Given the description of an element on the screen output the (x, y) to click on. 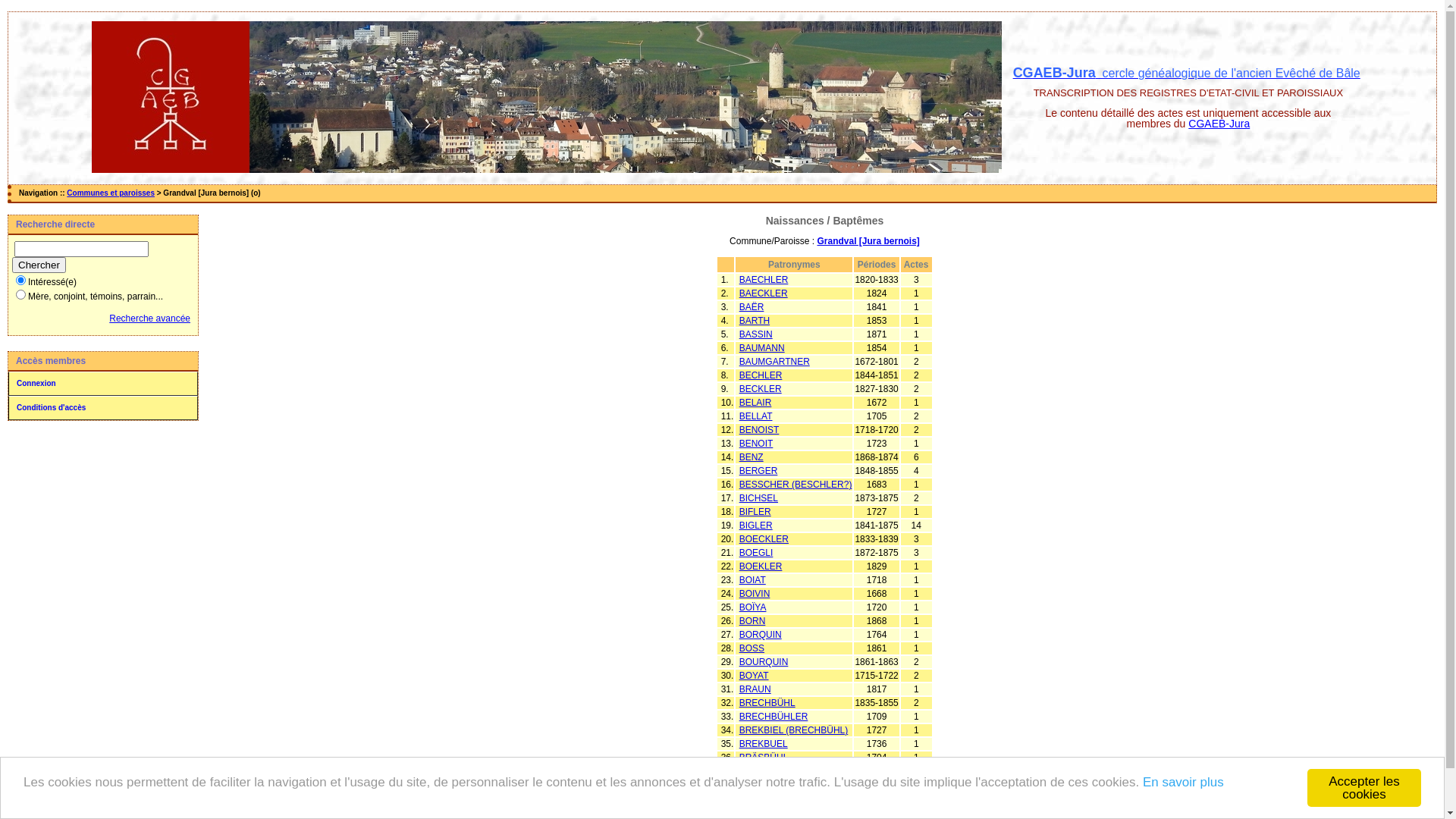
BELAIR Element type: text (755, 402)
BOEKLER Element type: text (760, 566)
BIFLER Element type: text (755, 511)
BORN Element type: text (752, 620)
BOIAT Element type: text (752, 579)
BIGLER Element type: text (755, 525)
BAECKLER Element type: text (763, 293)
BURNER Element type: text (758, 798)
Accepter les cookies Element type: text (1364, 787)
Connexion Element type: text (102, 383)
BOURQUIN Element type: text (763, 661)
BORQUIN Element type: text (760, 634)
BOECKLER Element type: text (763, 538)
BOSS Element type: text (751, 648)
BECKLER Element type: text (760, 388)
Grandval [Jura bernois] Element type: text (868, 240)
Communes et paroisses Element type: text (110, 192)
BAUMGARTNER Element type: text (774, 361)
BAUMANN Element type: text (761, 347)
BICHSEL Element type: text (758, 497)
Chercher Element type: text (38, 265)
BELLAT Element type: text (755, 416)
BASSIN Element type: text (755, 334)
BREKBUEL Element type: text (763, 743)
BURKHARD Element type: text (764, 784)
BESSCHER (BESCHLER?) Element type: text (795, 484)
BAECHLER Element type: text (763, 279)
BOEGLI Element type: text (756, 552)
BOYAT Element type: text (753, 675)
BOIVIN Element type: text (754, 593)
BENOIST Element type: text (759, 429)
BARTH Element type: text (754, 320)
BENOIT Element type: text (756, 443)
BERGER Element type: text (758, 470)
BECHLER Element type: text (760, 375)
CGAEB-Jura Element type: text (1218, 123)
En savoir plus Element type: text (1182, 782)
BENZ Element type: text (751, 456)
BRAUN Element type: text (755, 689)
BUECHE Element type: text (758, 770)
